Given the description of an element on the screen output the (x, y) to click on. 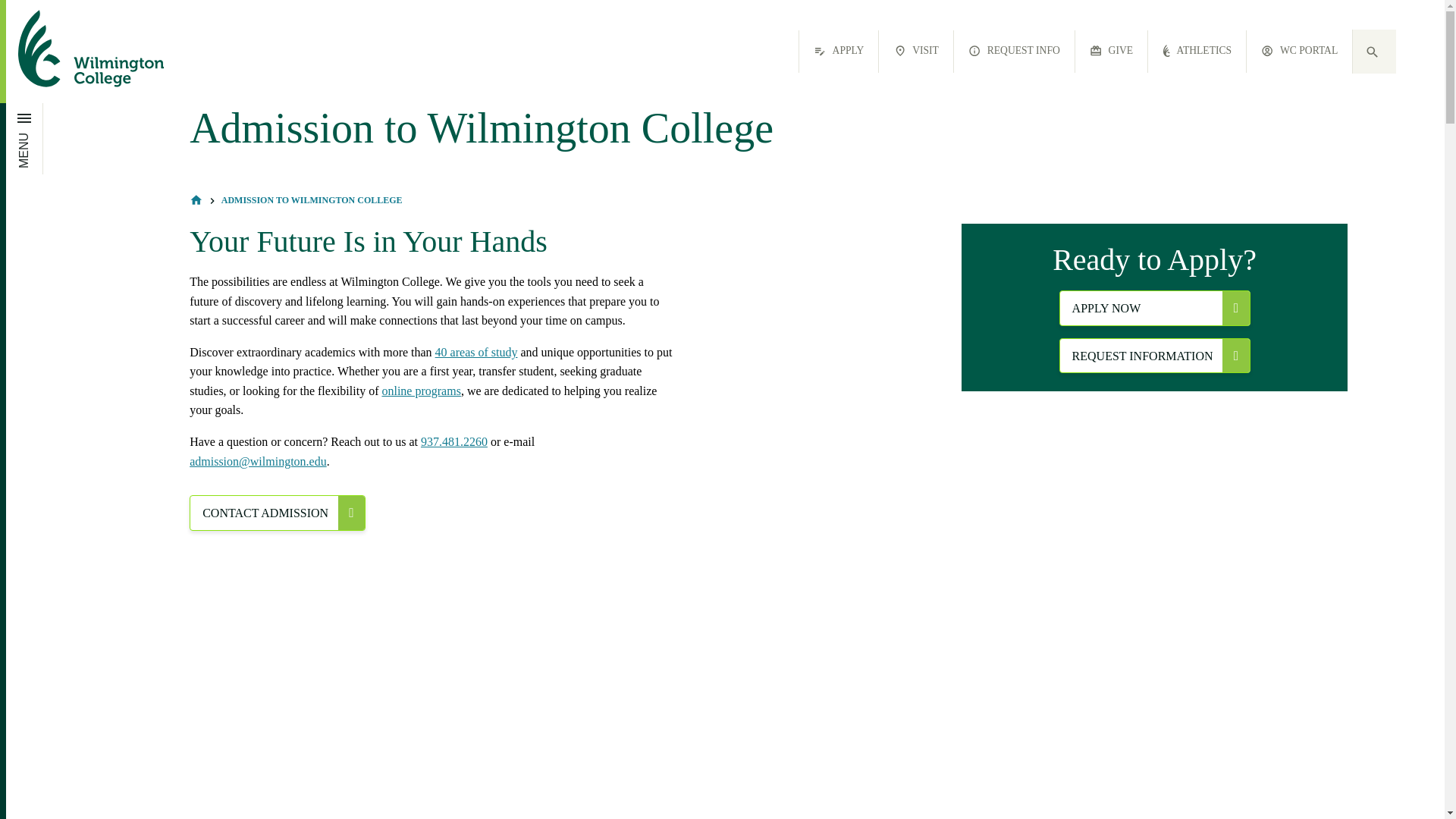
WC PORTAL (1299, 51)
ADMISSION TO WILMINGTON COLLEGE (312, 200)
APPLY (839, 51)
CONTACT ADMISSION (277, 512)
VISIT (916, 51)
ATHLETICS (1197, 51)
GIVE (1111, 51)
APPLY NOW (1154, 307)
40 areas of study (476, 351)
